Given the description of an element on the screen output the (x, y) to click on. 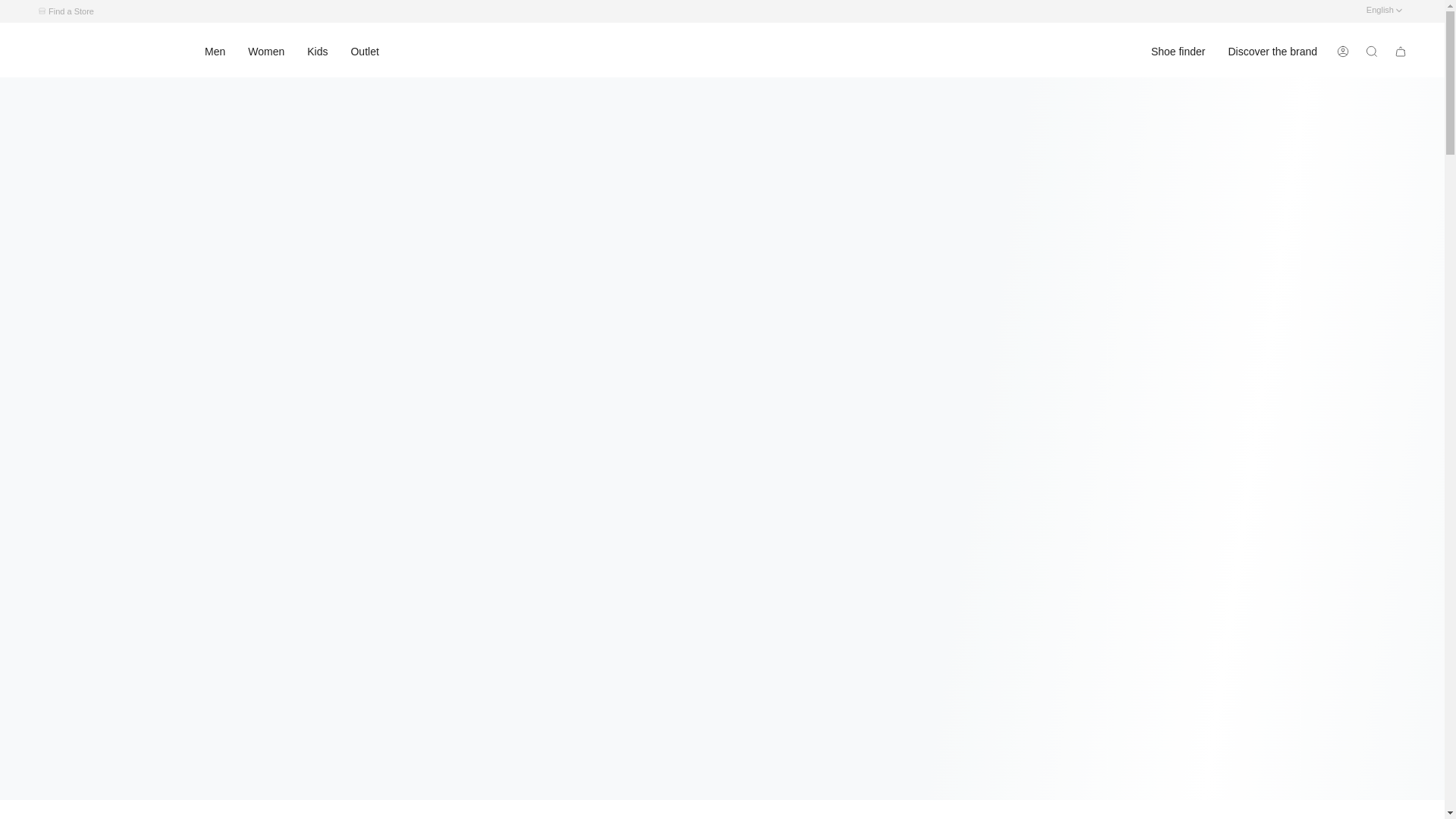
Outlet (364, 51)
Find a Store (71, 10)
English (1383, 10)
Men (214, 51)
Kids (317, 51)
Women (265, 51)
